Given the description of an element on the screen output the (x, y) to click on. 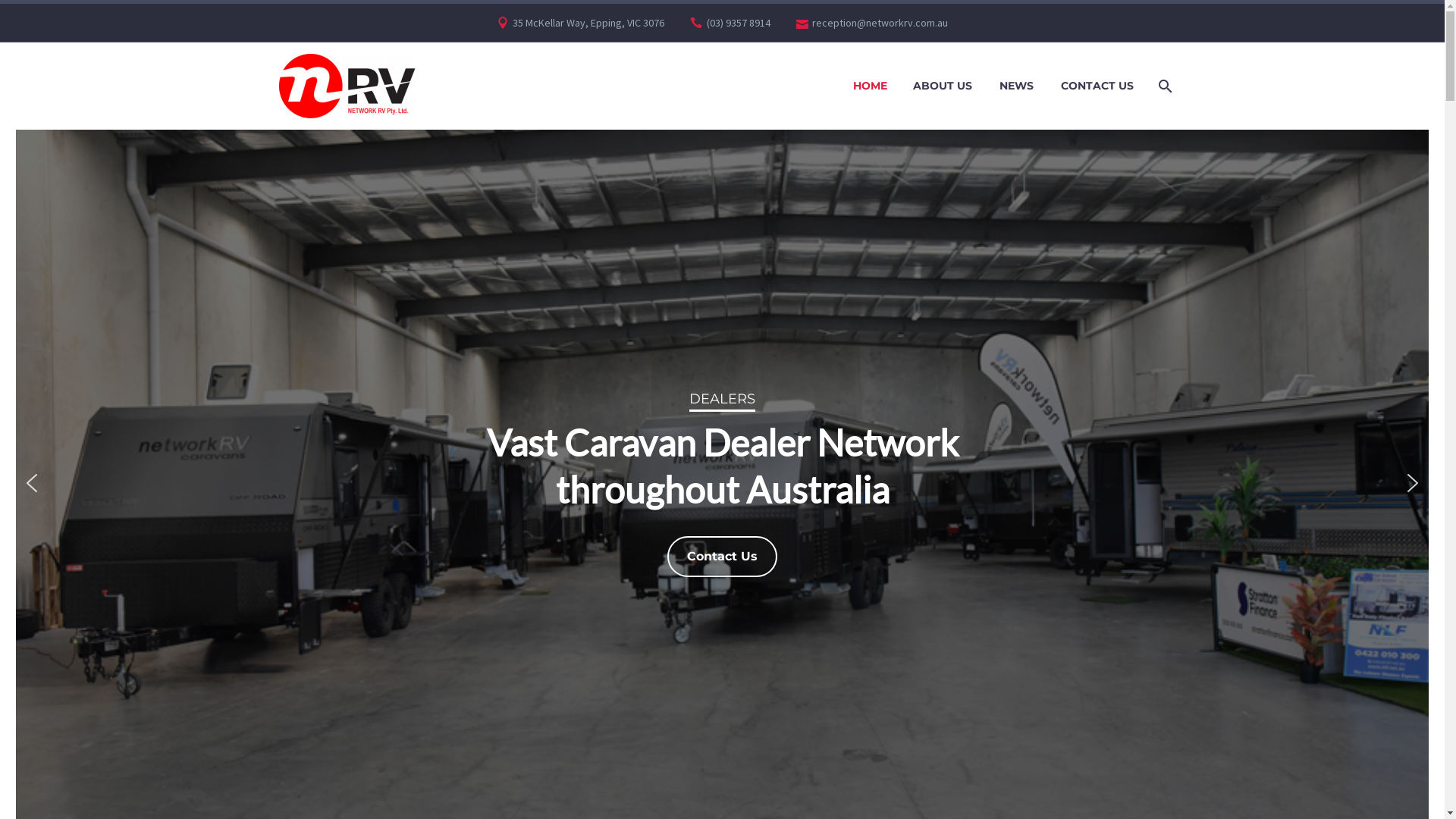
(03) 9357 8914 Element type: text (738, 22)
Contact Us Element type: text (722, 556)
NEWS Element type: text (1015, 85)
CONTACT US Element type: text (1097, 85)
reception@networkrv.com.au Element type: text (879, 22)
HOME Element type: text (869, 85)
ABOUT US Element type: text (941, 85)
